Given the description of an element on the screen output the (x, y) to click on. 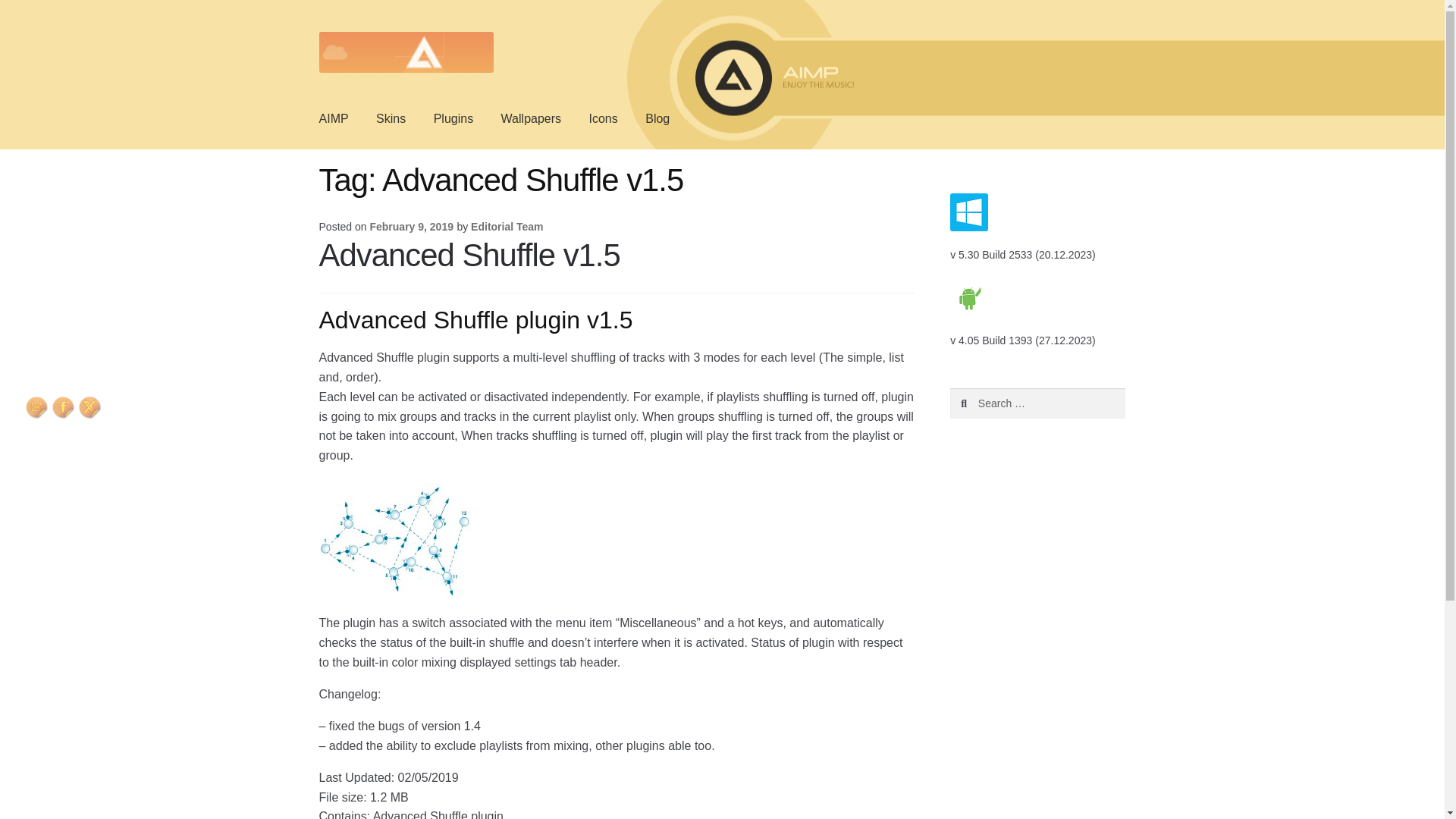
Twitter (89, 407)
Facebook (63, 407)
Advanced Shuffle v1.5 (469, 254)
Plugins (453, 118)
Icons (602, 118)
Wallpapers (531, 118)
Editorial Team (506, 226)
AIMP (334, 118)
February 9, 2019 (410, 226)
Skins (390, 118)
